Given the description of an element on the screen output the (x, y) to click on. 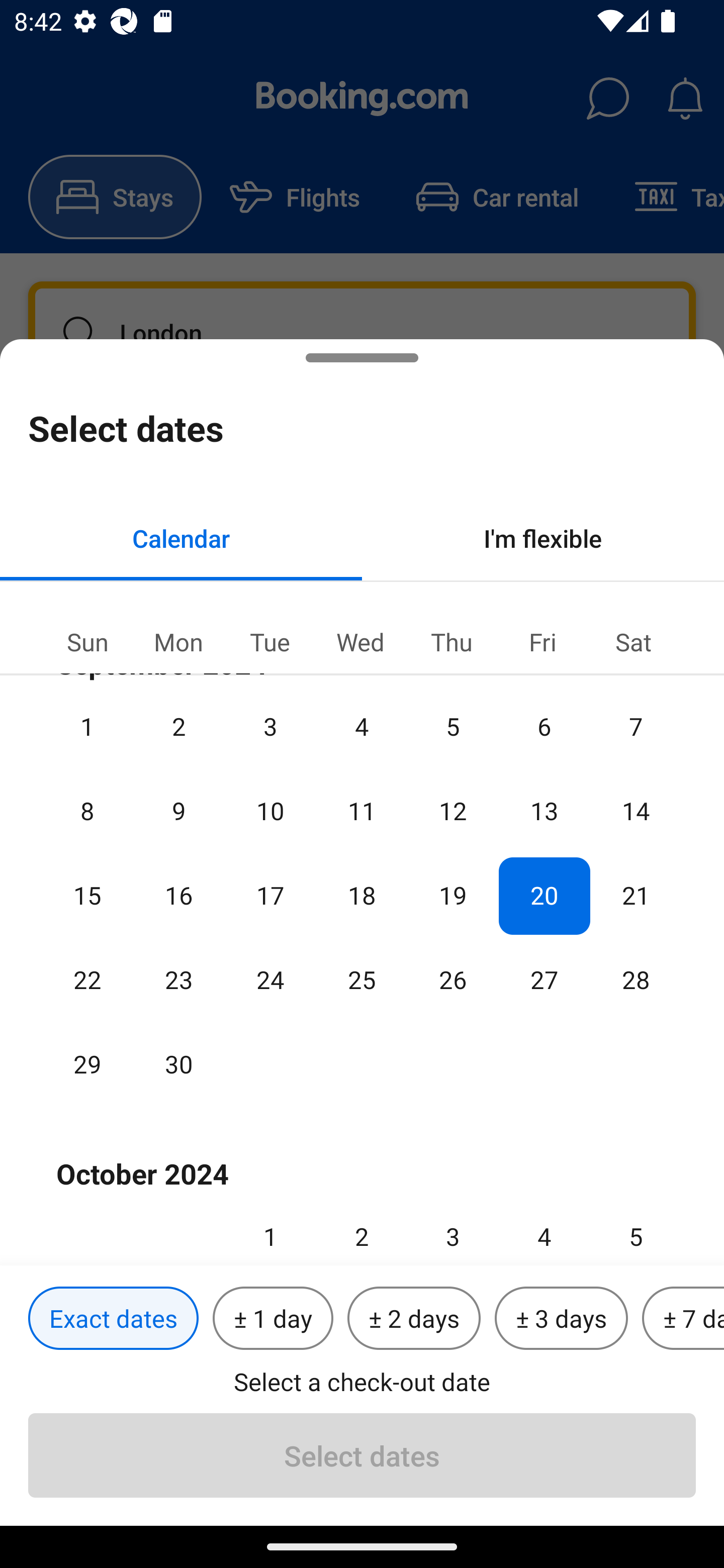
I'm flexible (543, 537)
Exact dates (113, 1318)
± 1 day (272, 1318)
± 2 days (413, 1318)
± 3 days (560, 1318)
± 7 days (683, 1318)
Select dates (361, 1454)
